Given the description of an element on the screen output the (x, y) to click on. 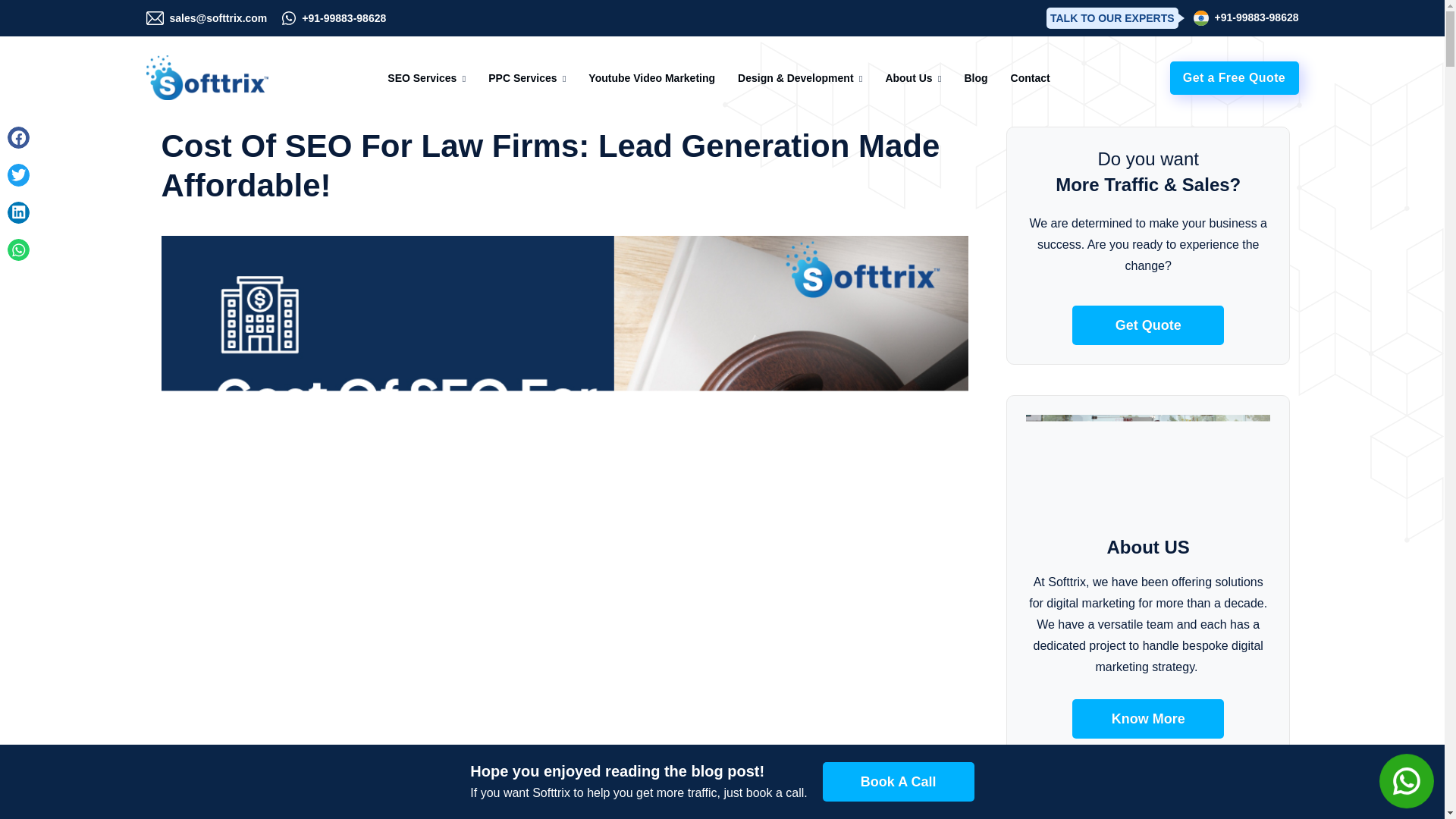
Youtube Video Marketing (651, 77)
Blog (975, 77)
SEO Services (422, 77)
Gary (183, 777)
PPC Services (521, 77)
35 Comments (394, 777)
Contact (1029, 77)
About Us (908, 77)
Get a Free Quote (1233, 77)
